Given the description of an element on the screen output the (x, y) to click on. 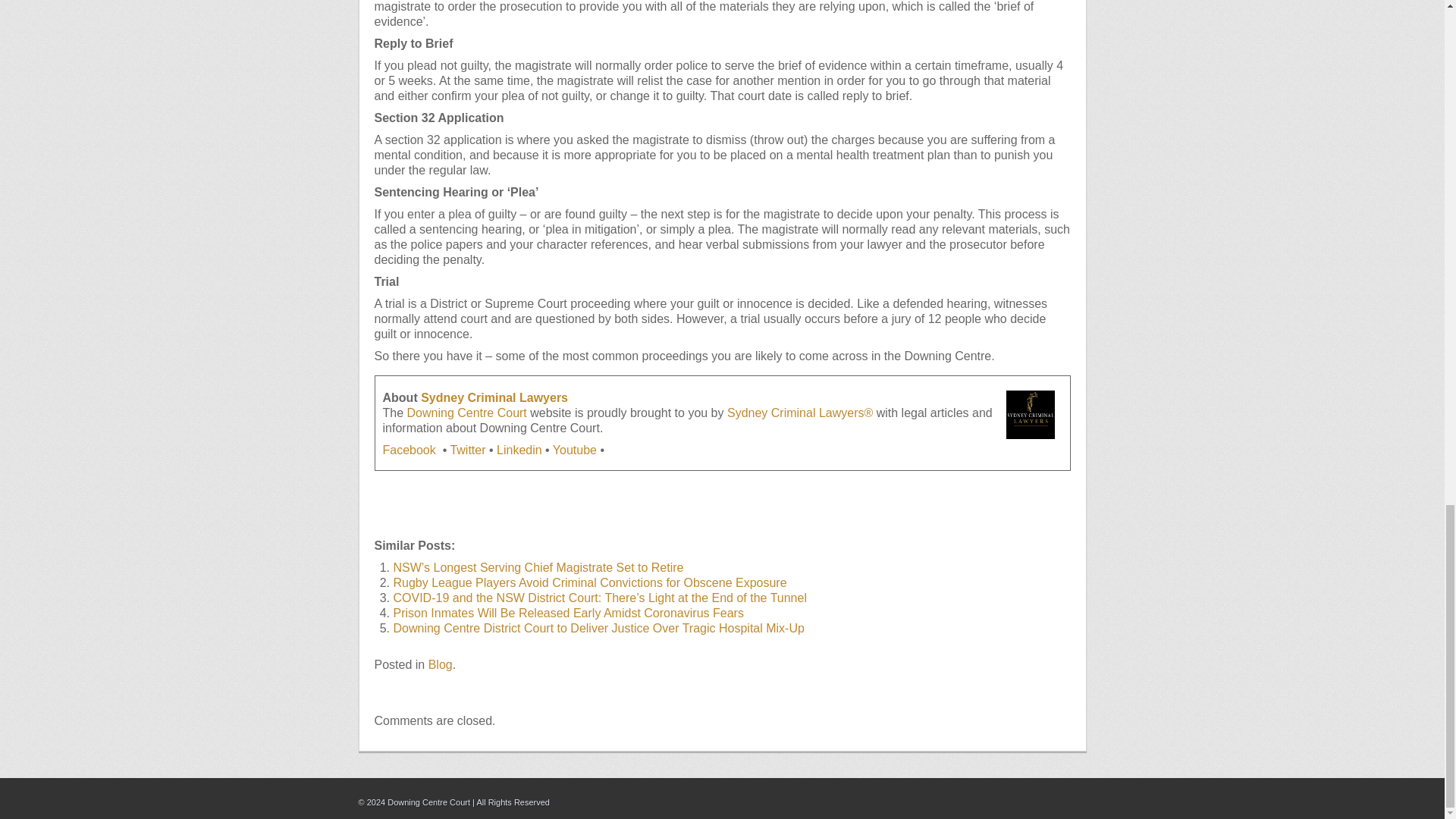
Sydney Criminal Lawyers (493, 397)
Downing Centre Court (467, 412)
Facebook (410, 449)
